Given the description of an element on the screen output the (x, y) to click on. 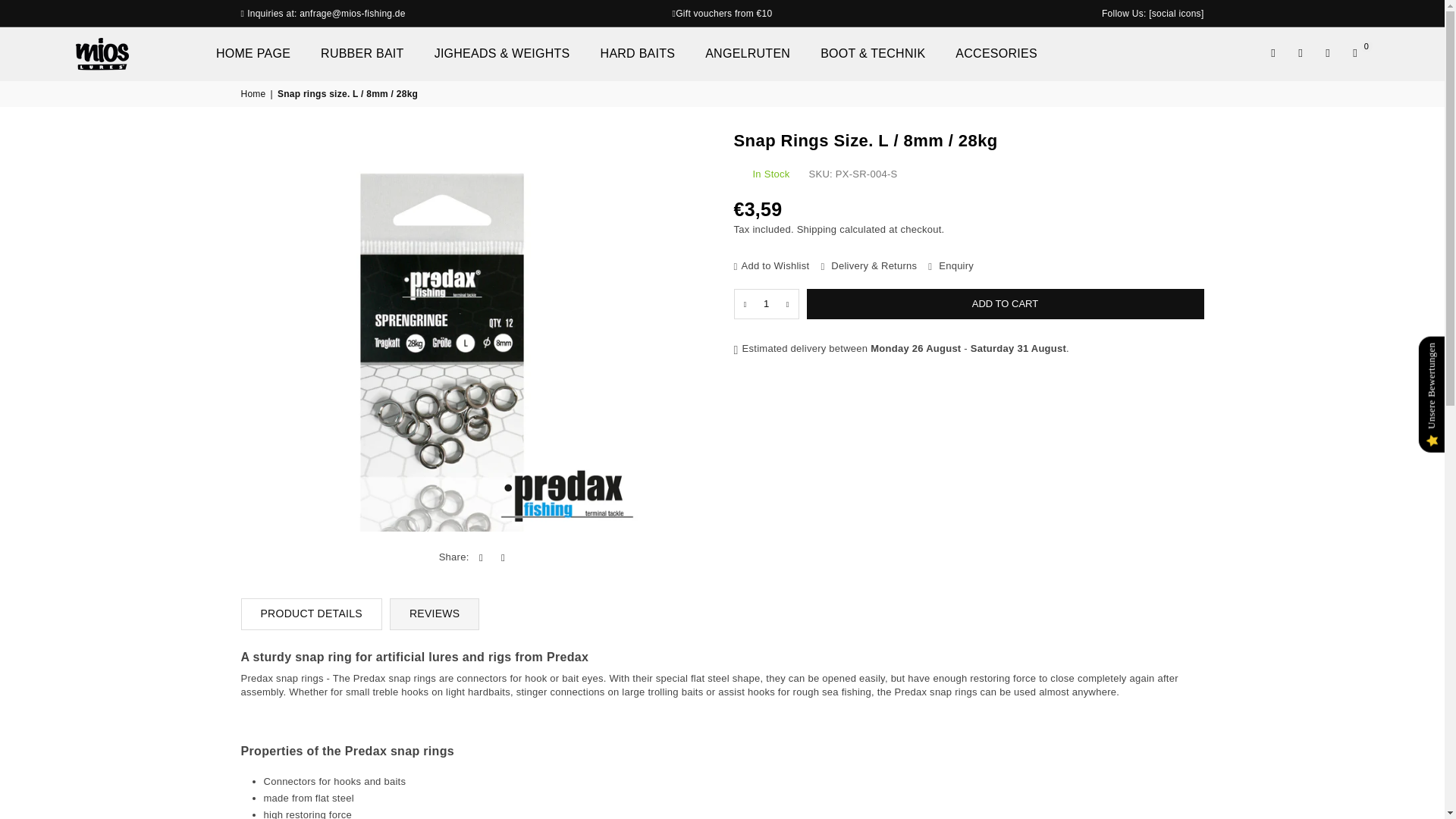
Search (1273, 53)
Wishlist (1327, 53)
Cart (1354, 53)
MIOS LURES (140, 53)
HOME PAGE (253, 53)
RUBBER BAIT (361, 53)
HARD BAITS (638, 53)
Back to the home page (254, 93)
ANGELRUTEN (748, 53)
Settings (1300, 53)
